Given the description of an element on the screen output the (x, y) to click on. 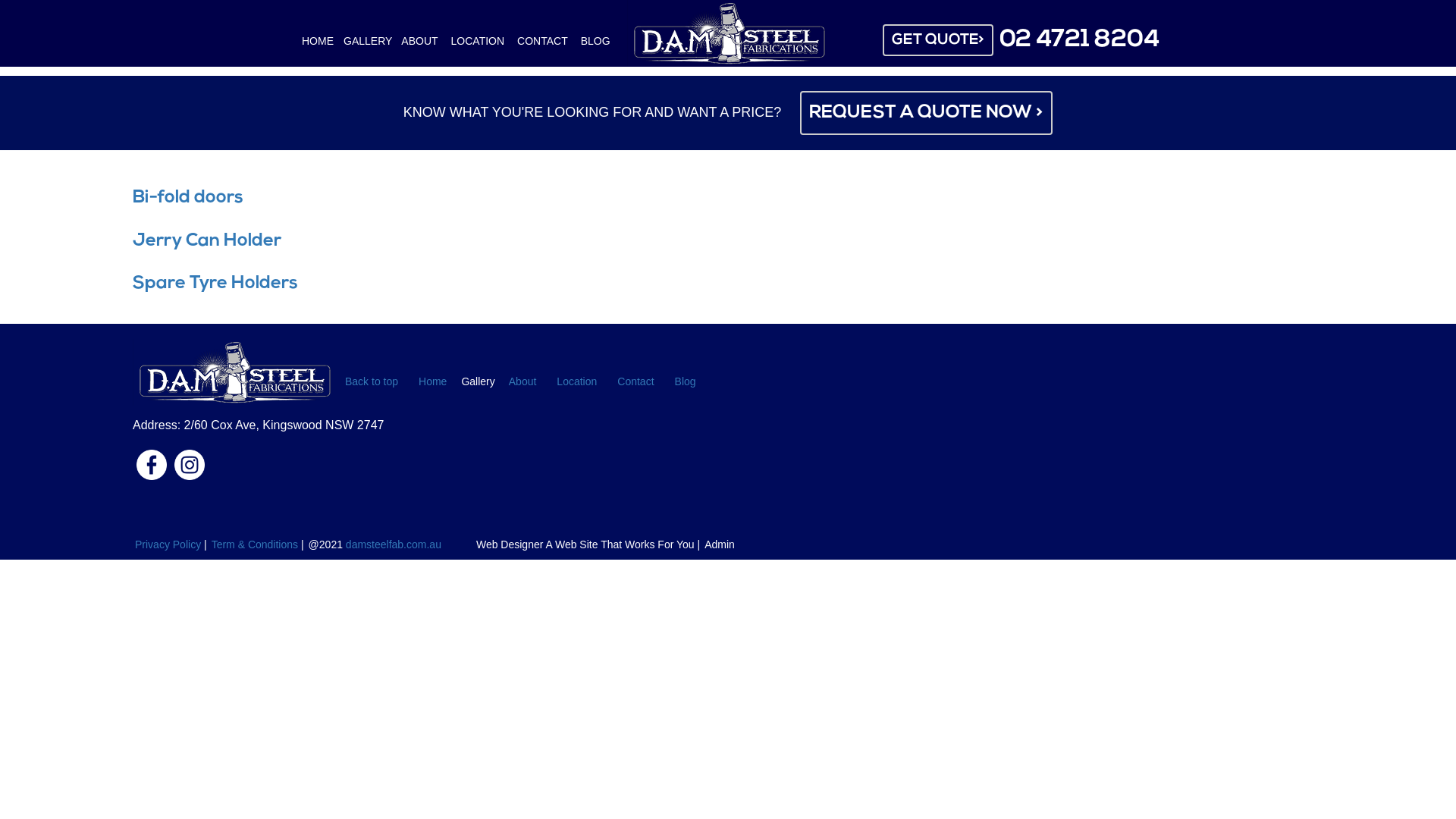
Blog Element type: text (685, 381)
REQUEST A QUOTE NOW > Element type: text (926, 112)
ABOUT Element type: text (419, 40)
damsteelfab.com.au Element type: text (393, 544)
Contact Element type: text (635, 381)
BLOG Element type: text (595, 40)
Spare Tyre Holders Element type: text (215, 283)
Term & Conditions Element type: text (254, 544)
Privacy Policy Element type: text (167, 544)
CONTACT Element type: text (542, 40)
Home Element type: text (432, 381)
HOME Element type: text (317, 40)
Back to top Element type: text (371, 381)
LOCATION Element type: text (478, 40)
Location Element type: text (576, 381)
About Element type: text (522, 381)
GET QUOTE> Element type: text (937, 40)
Bi-fold doors Element type: text (187, 197)
Jerry Can Holder Element type: text (206, 241)
02 4721 8204 Element type: text (1079, 40)
